Given the description of an element on the screen output the (x, y) to click on. 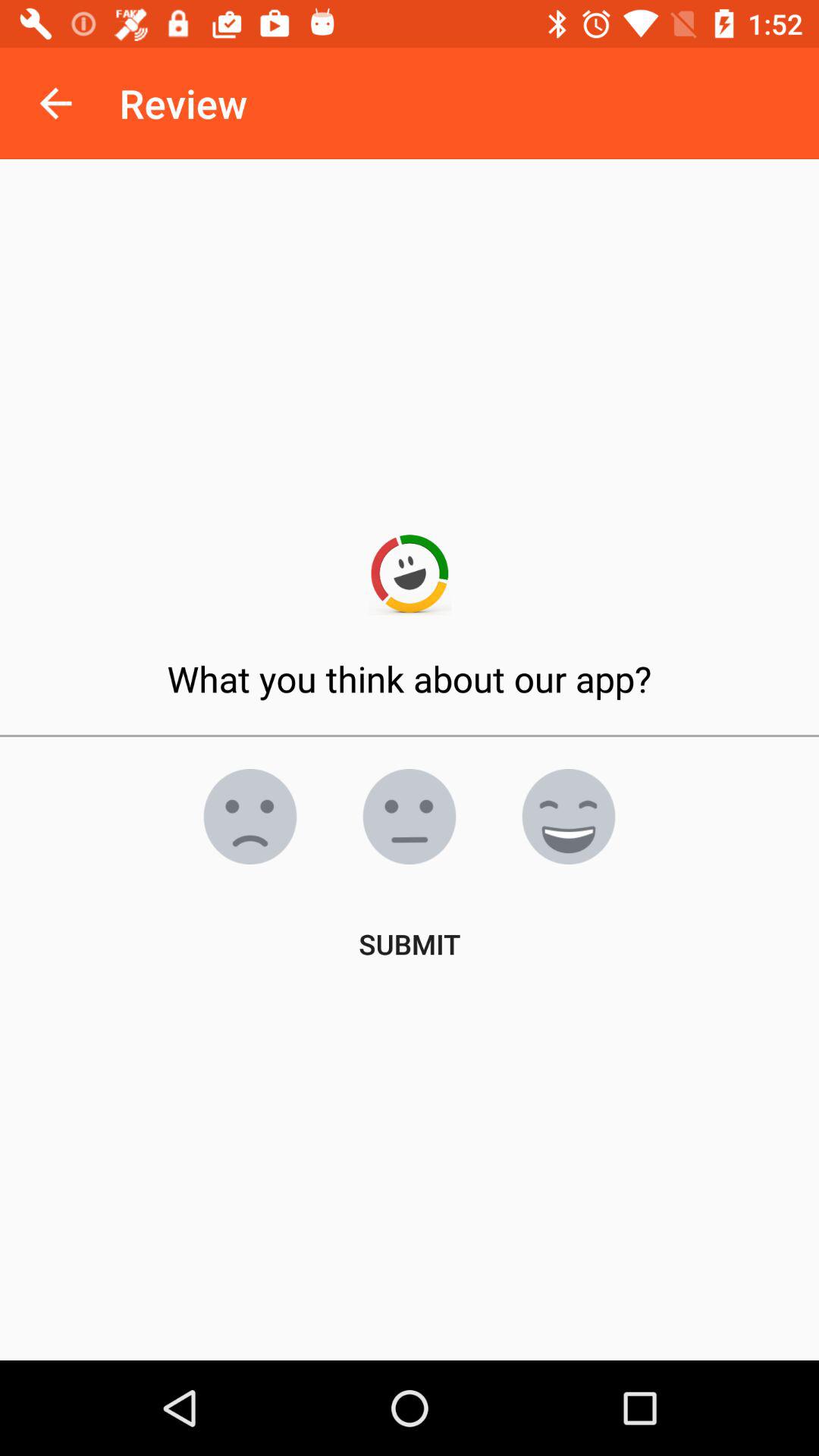
select the item on the left (249, 816)
